Given the description of an element on the screen output the (x, y) to click on. 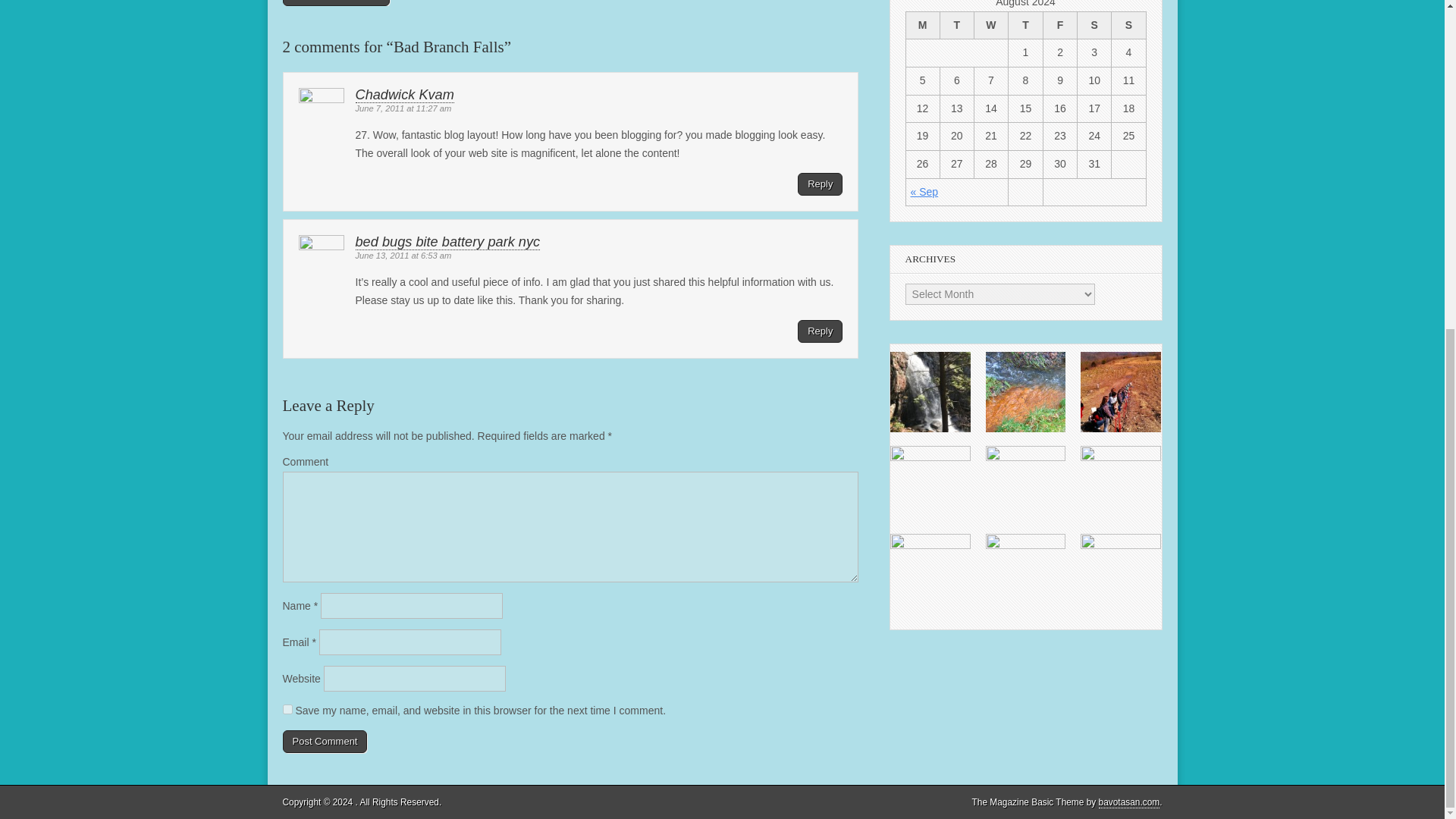
Monday (922, 25)
Post Comment (324, 741)
Saturday (1094, 25)
Sunday (1128, 25)
Thursday (1026, 25)
yes (287, 709)
Post Comment (324, 741)
Wednesday (990, 25)
Reply (820, 183)
Tuesday (956, 25)
Reply (820, 331)
Friday (1060, 25)
Chadwick Kvam (403, 94)
bed bugs bite battery park nyc (447, 242)
